Given the description of an element on the screen output the (x, y) to click on. 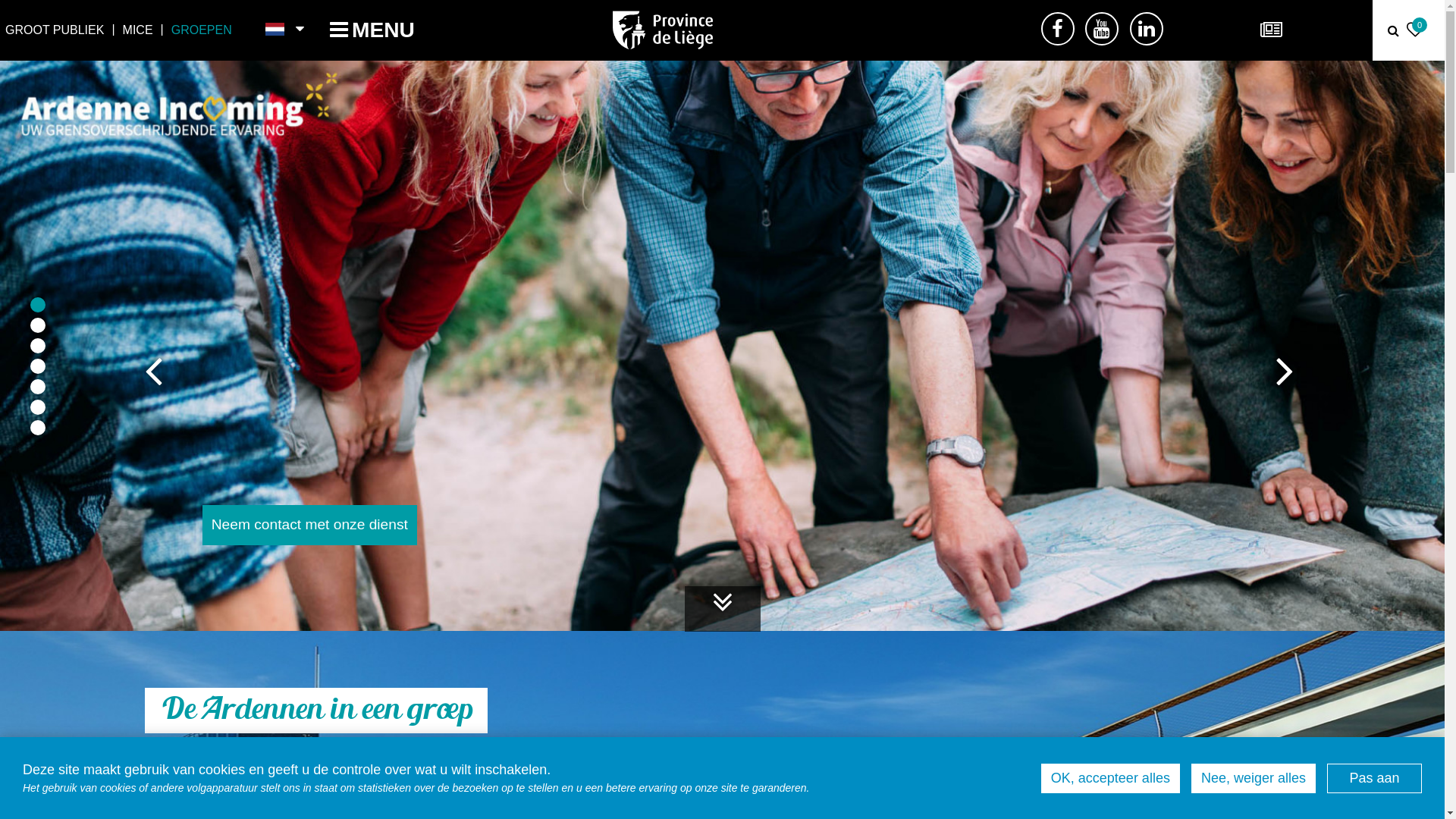
GROOT PUBLIEK Element type: text (54, 30)
GROEPEN Element type: text (201, 30)
Dagexcursie - Culturele stadswandeling Element type: hover (722, 345)
Nee, weiger alles Element type: text (1253, 777)
MICE Element type: text (137, 30)
0 Element type: text (1416, 31)
MENU Element type: text (371, 29)
Pas aan Element type: text (1374, 777)
OK, accepteer alles Element type: text (1110, 777)
Ontdek de Ardennen in groep Element type: text (306, 525)
Nederlands Element type: hover (275, 30)
